Given the description of an element on the screen output the (x, y) to click on. 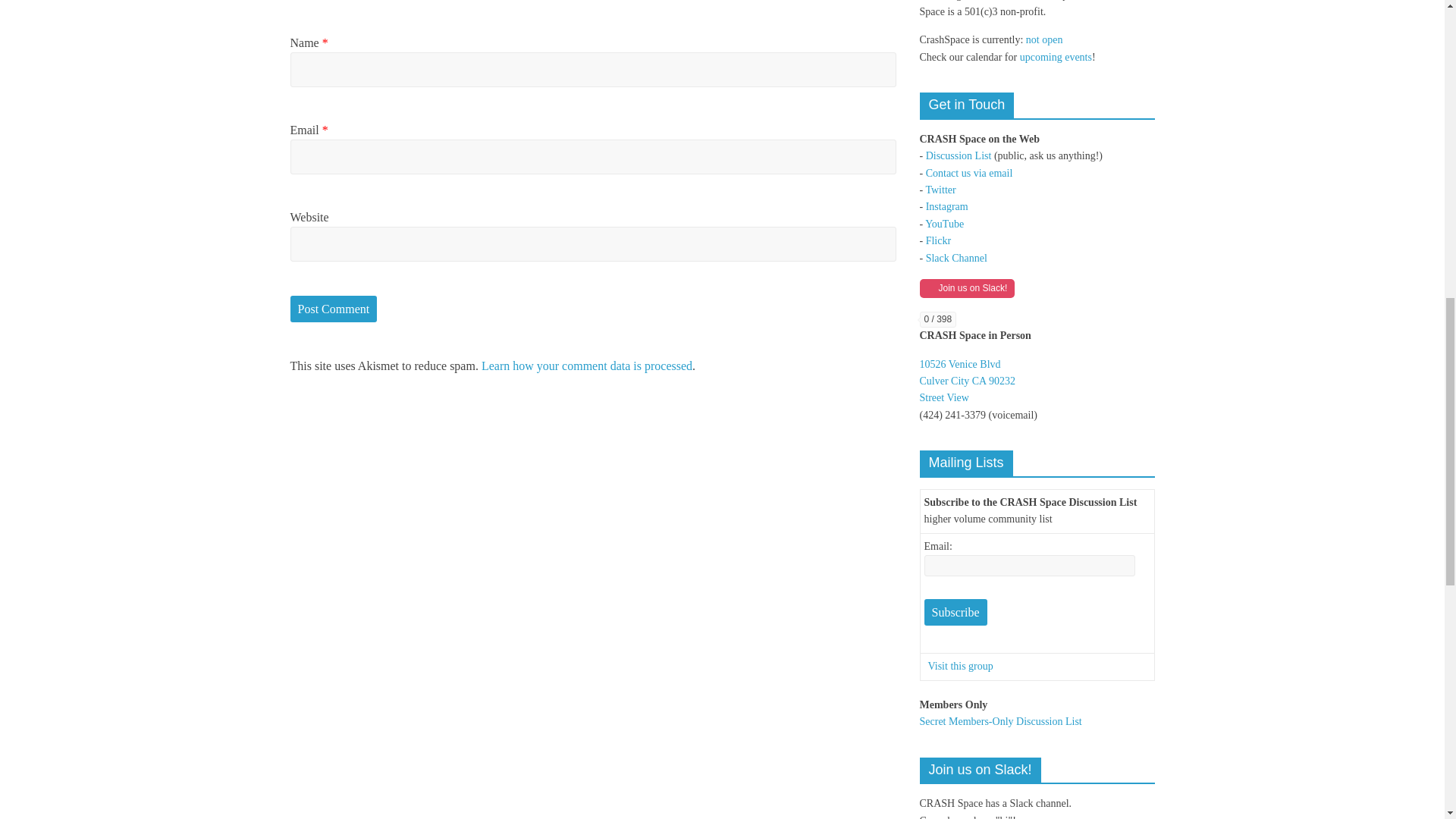
Subscribe (955, 612)
Post Comment (333, 308)
